Given the description of an element on the screen output the (x, y) to click on. 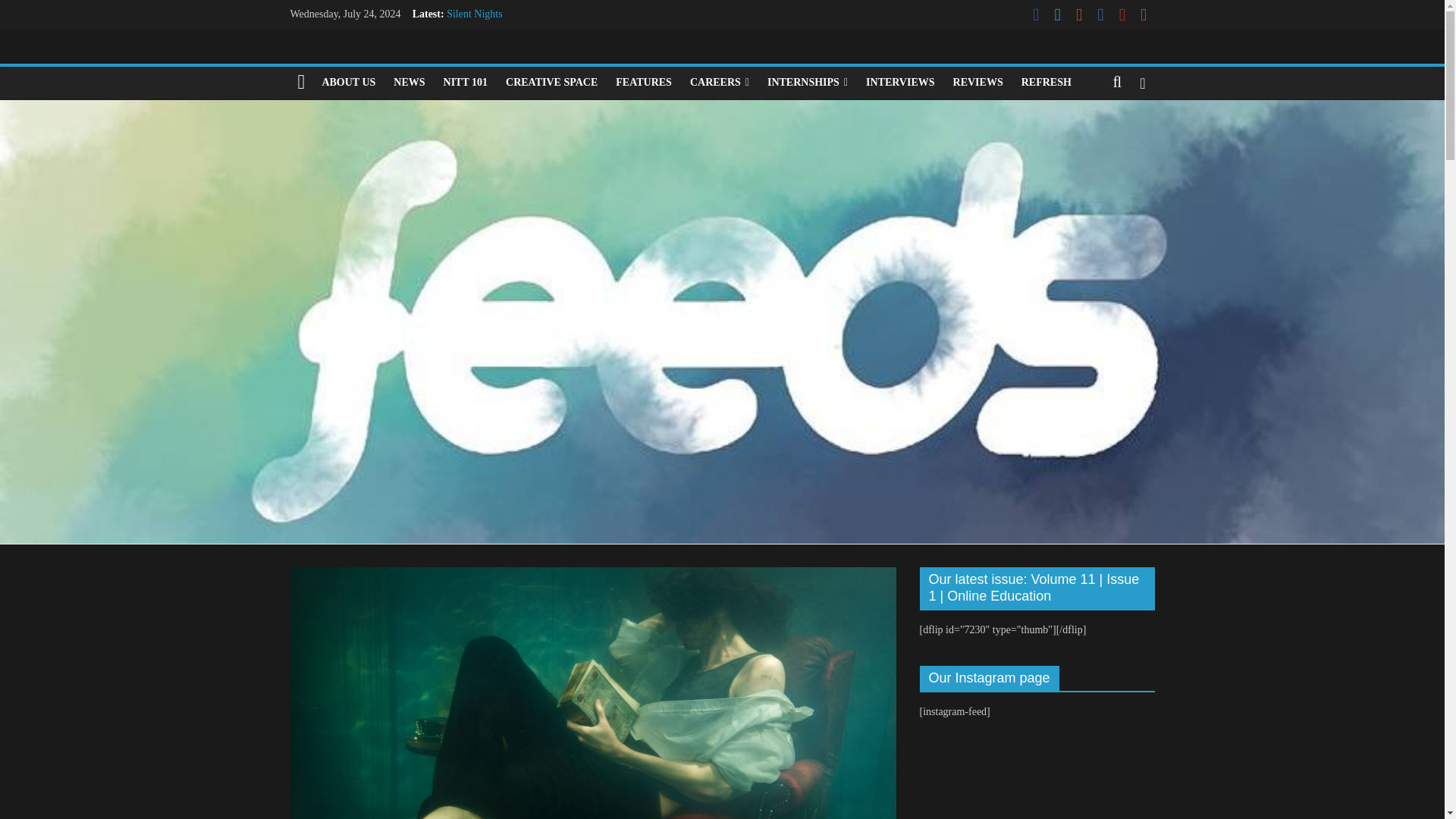
ABOUT US (348, 82)
Whispers of a new Dawn (500, 30)
FEATURES (644, 82)
Silent Nights (474, 13)
View a random post (1142, 82)
Silent Nights (474, 13)
Aam ka achar (475, 81)
Whispers of a new Dawn (500, 30)
CREATIVE SPACE (551, 82)
NITT 101 (464, 82)
Once Upon A Pride (487, 48)
Feeds NITT (301, 82)
Aam ka achar (475, 81)
Once Upon A Pride (487, 48)
NEWS (408, 82)
